Given the description of an element on the screen output the (x, y) to click on. 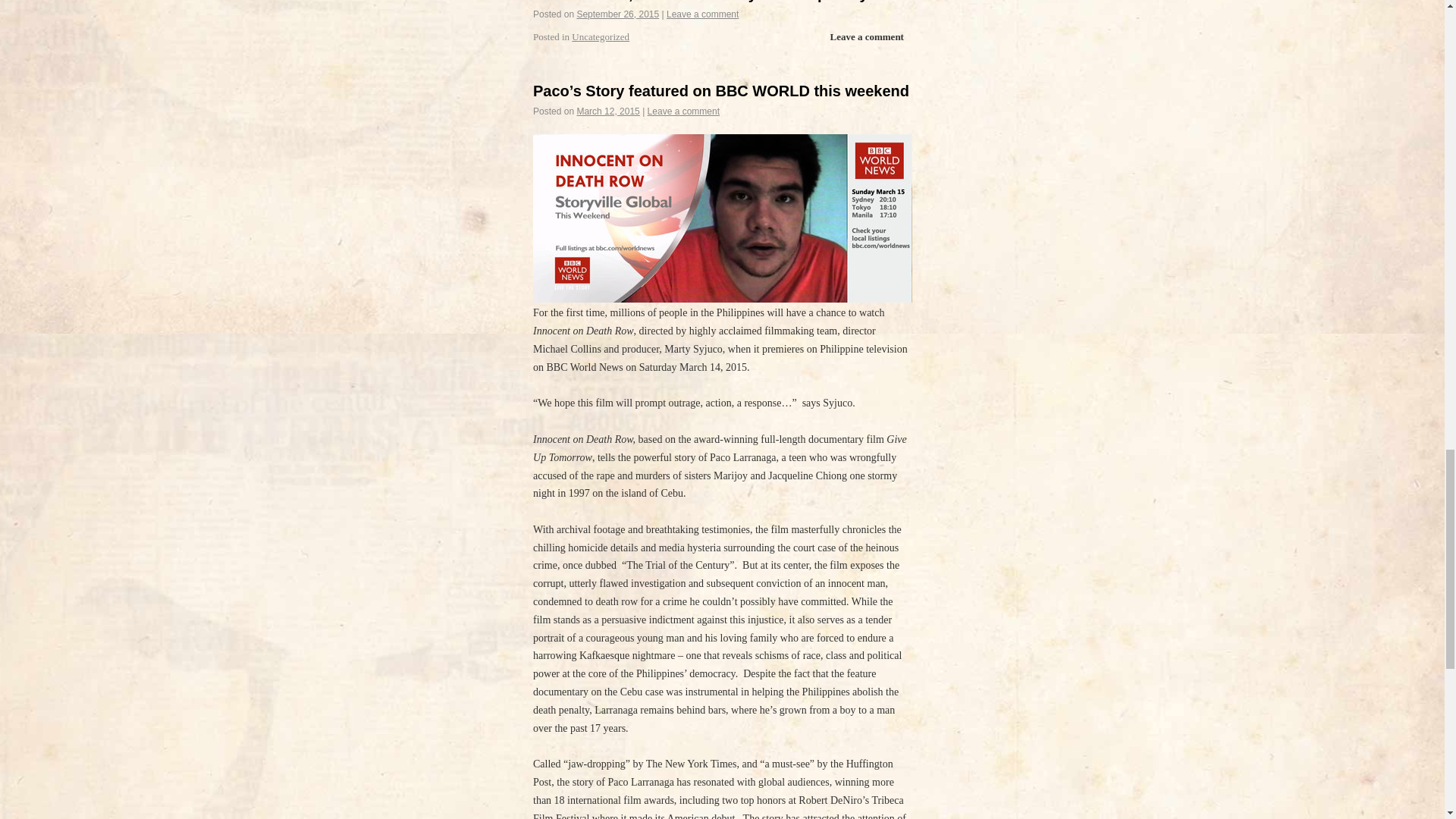
11:29 pm (617, 14)
3:11 pm (607, 111)
